Given the description of an element on the screen output the (x, y) to click on. 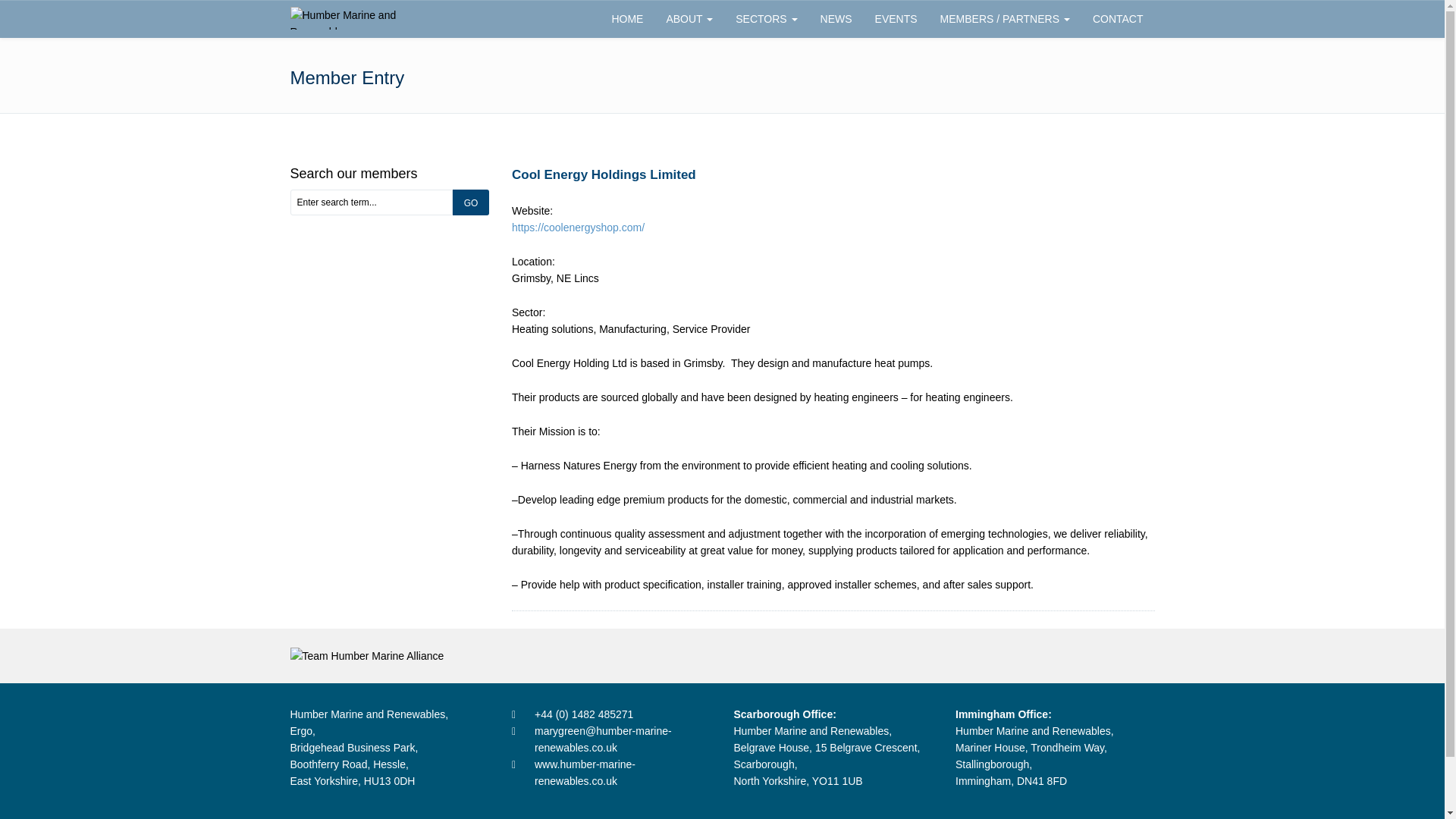
NEWS (836, 18)
Enter search term... (370, 202)
Enter search term... (370, 202)
ABOUT (688, 18)
HOME (626, 18)
GO (470, 202)
GO (470, 202)
www.humber-marine-renewables.co.uk (622, 772)
EVENTS (895, 18)
GO (470, 202)
